Given the description of an element on the screen output the (x, y) to click on. 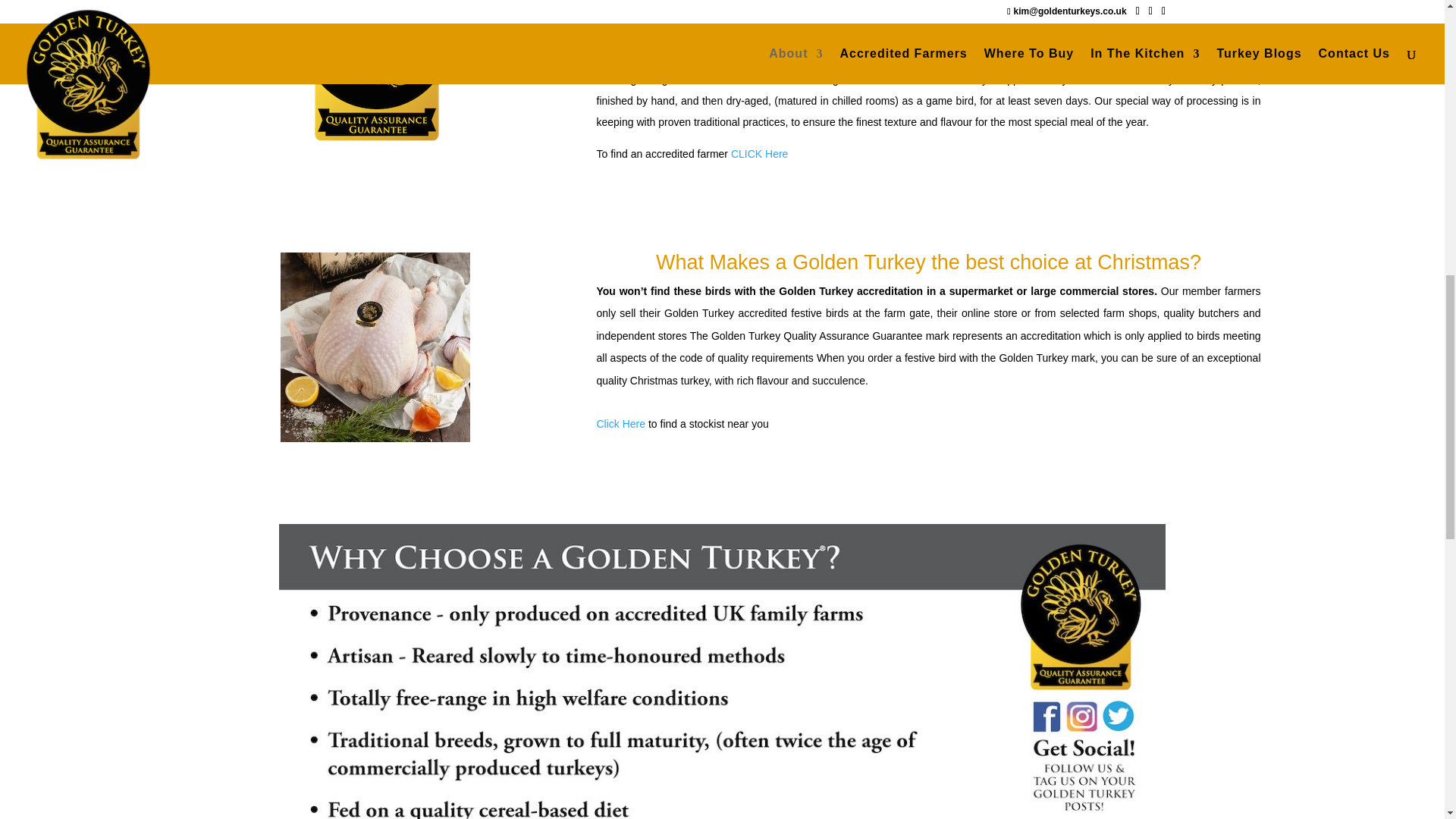
Fresh Dressed Christmas Turkey 500x500 (375, 347)
GT Logo 500 x 500 copy (375, 72)
Click Here (620, 423)
CLICK Here (758, 153)
